Given the description of an element on the screen output the (x, y) to click on. 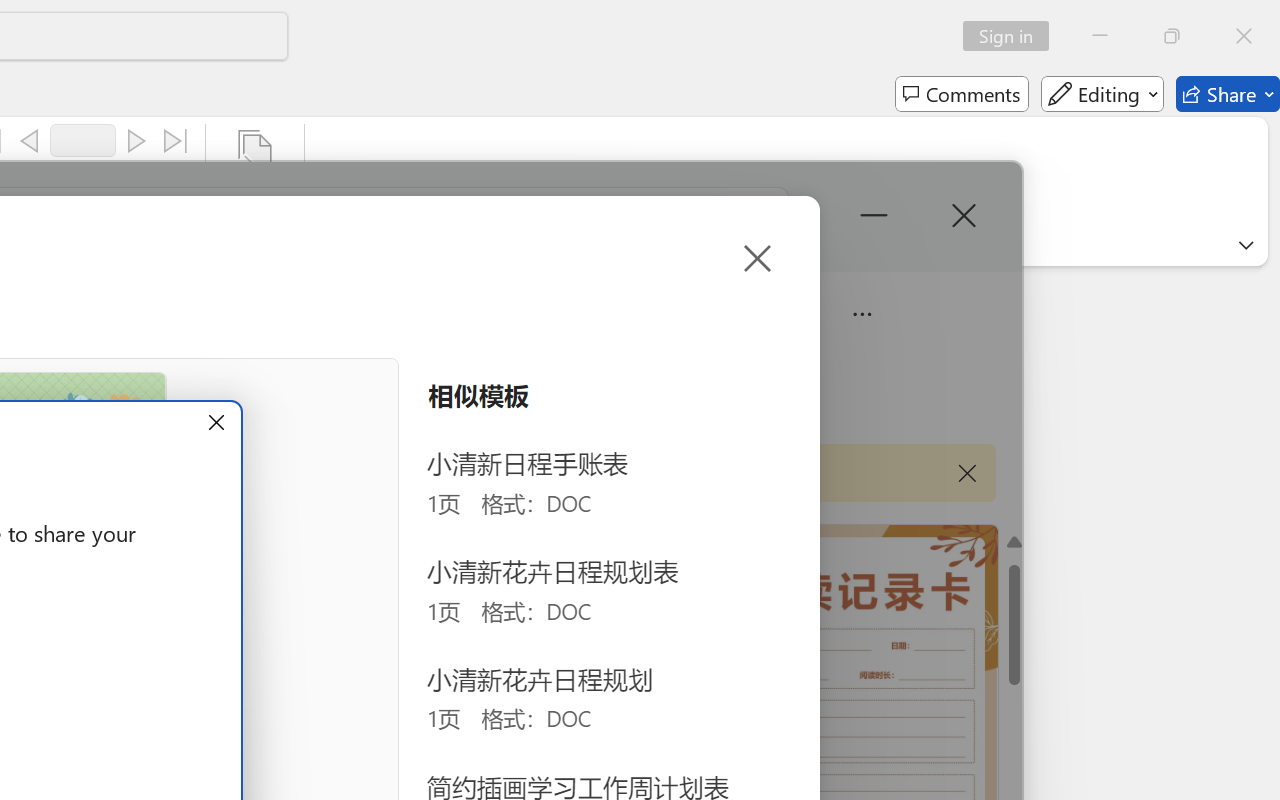
Previous (29, 141)
Finish & Merge (255, 179)
Next (136, 141)
Sign in (1012, 35)
Editing (1101, 94)
Record (83, 140)
Last (175, 141)
